Given the description of an element on the screen output the (x, y) to click on. 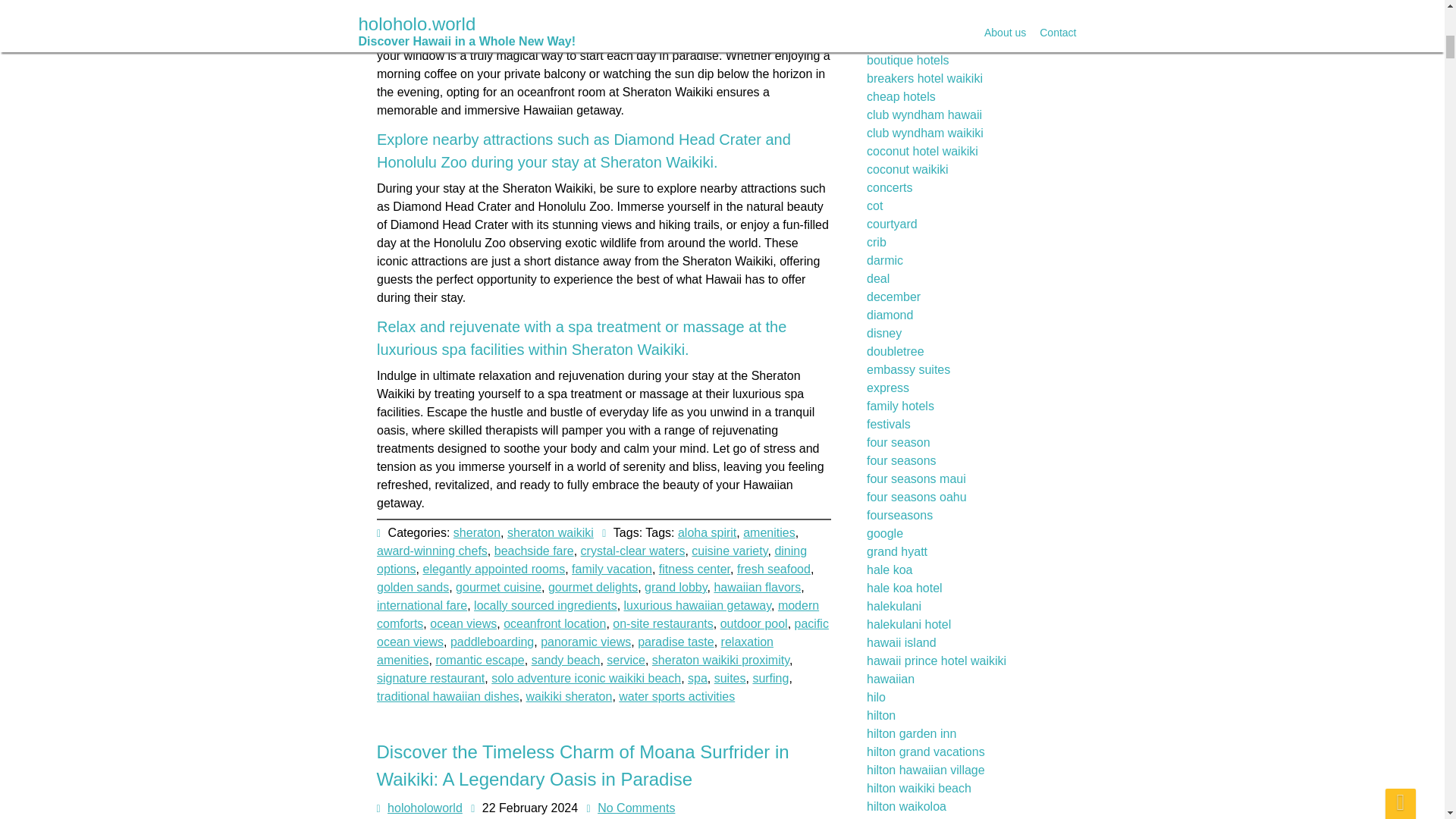
ocean views (463, 613)
cuisine variety (714, 406)
golden sands (427, 521)
award-winning chefs (481, 337)
outdoor pool (753, 620)
aloha spirit (685, 272)
sheraton waikiki (580, 253)
dining options (620, 437)
gourmet delights (595, 540)
international fare (427, 581)
locally sourced ingredients (548, 584)
amenities (732, 307)
sheraton (527, 211)
paddleboarding (491, 640)
luxurious hawaiian getaway (696, 587)
